Given the description of an element on the screen output the (x, y) to click on. 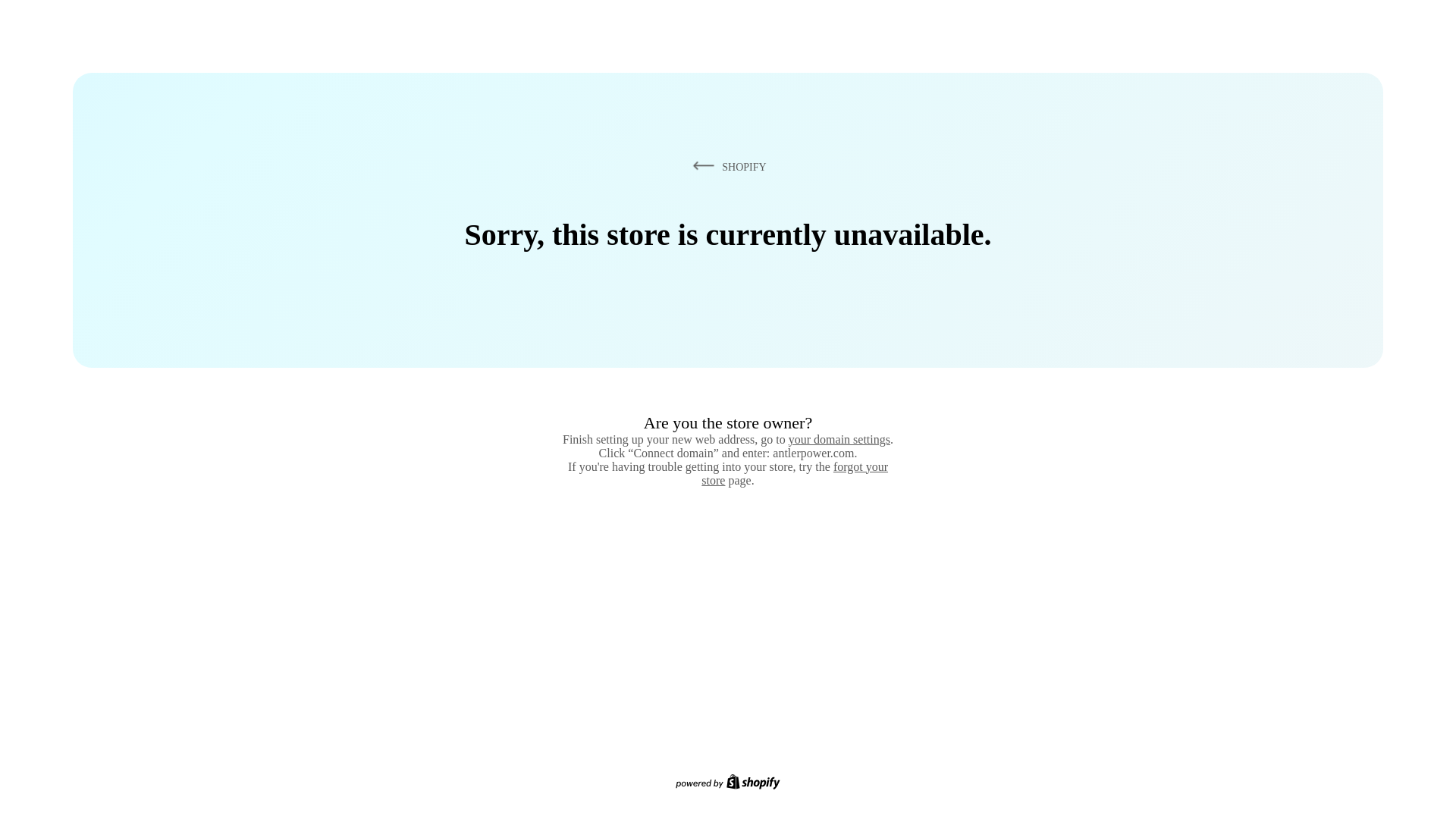
your domain settings (839, 439)
forgot your store (794, 473)
SHOPIFY (726, 166)
